Given the description of an element on the screen output the (x, y) to click on. 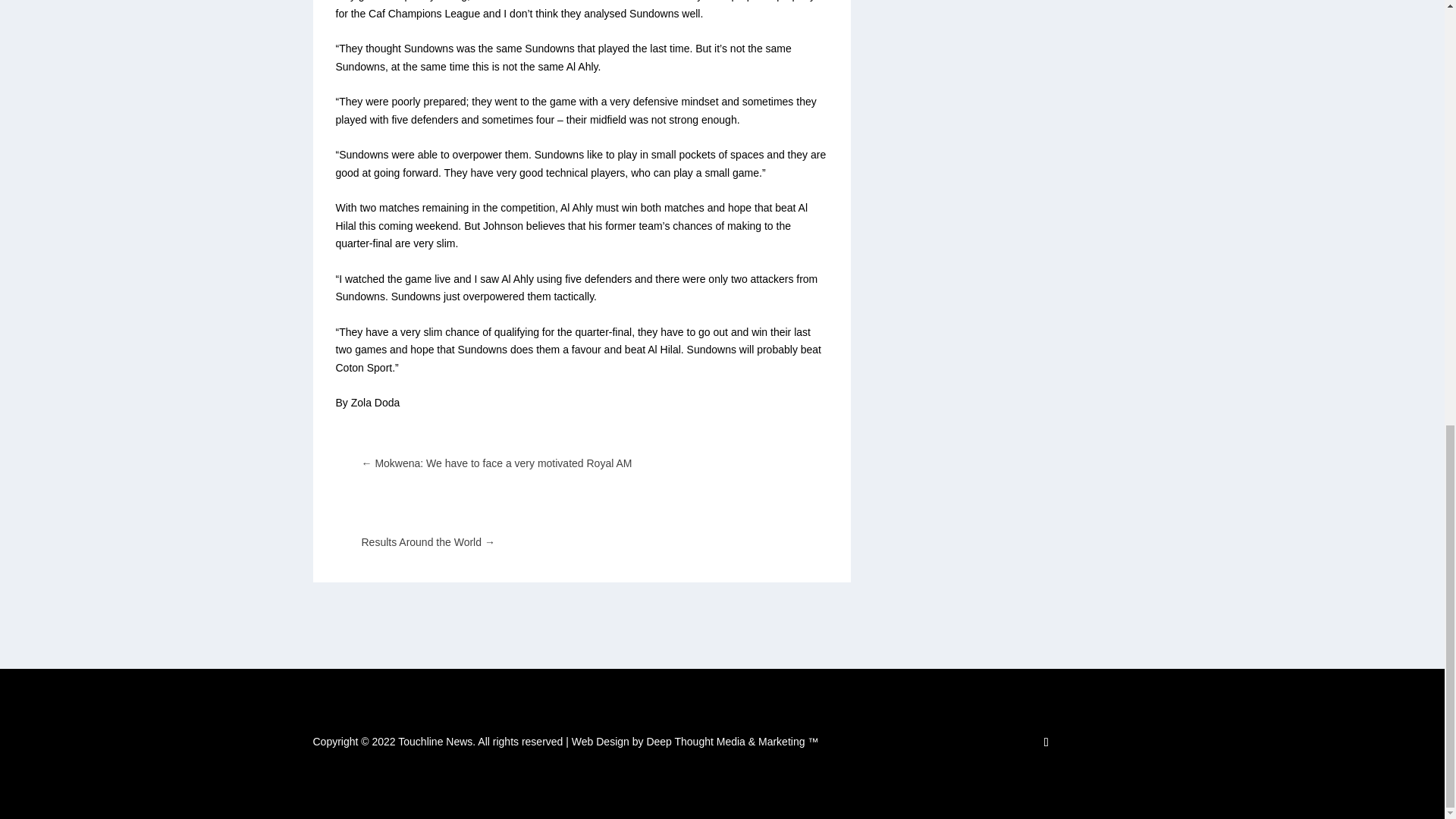
Follow on Twitter (1045, 742)
Digital Marketing Company Cape Town (695, 741)
